Given the description of an element on the screen output the (x, y) to click on. 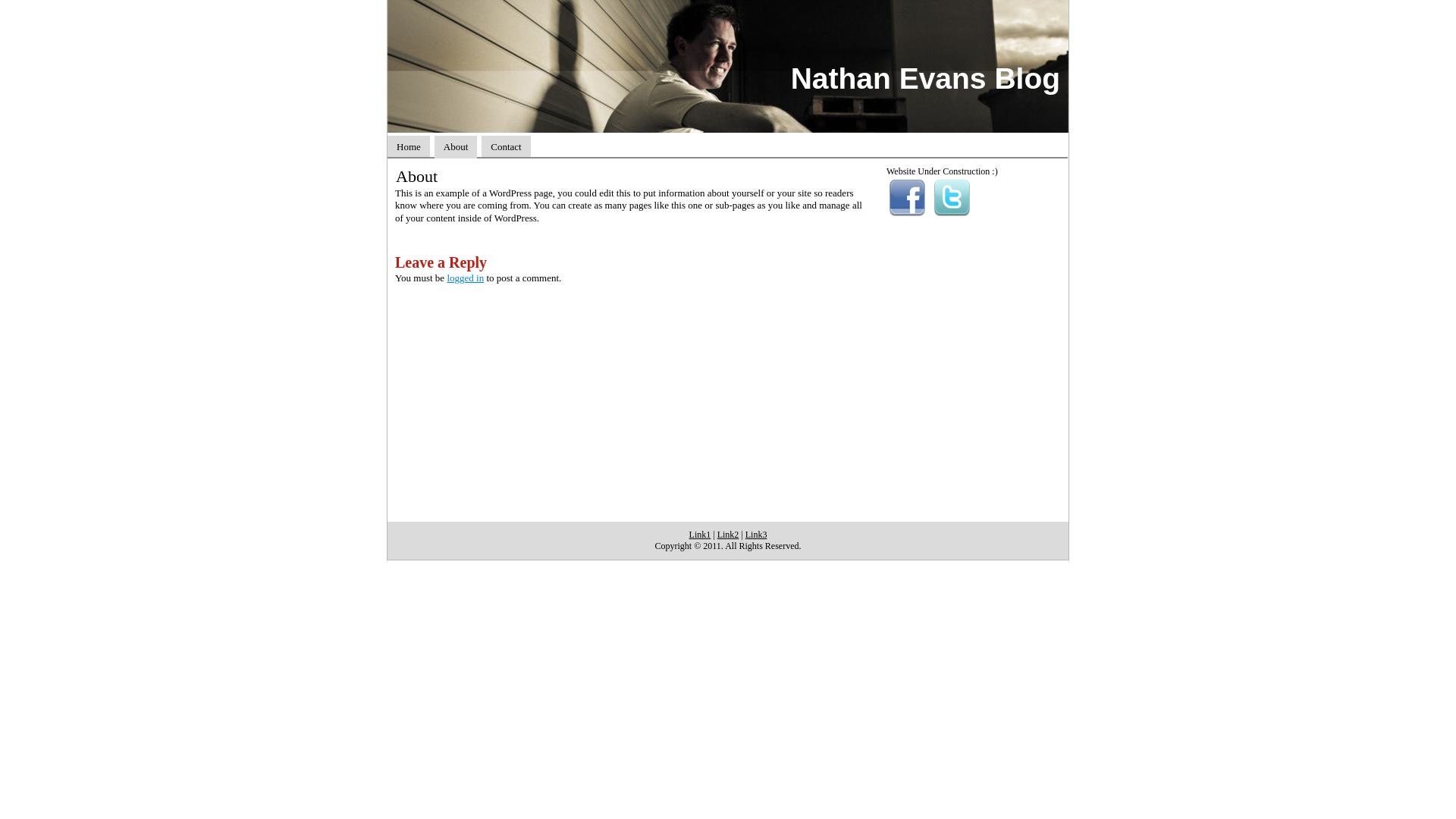
Link2 Element type: text (728, 534)
Contact Element type: text (505, 146)
About Element type: text (455, 146)
Home Element type: text (408, 146)
Nathan Evans Blog Element type: text (925, 78)
Link3 Element type: text (756, 534)
logged in Element type: text (464, 277)
Link1 Element type: text (700, 534)
